Given the description of an element on the screen output the (x, y) to click on. 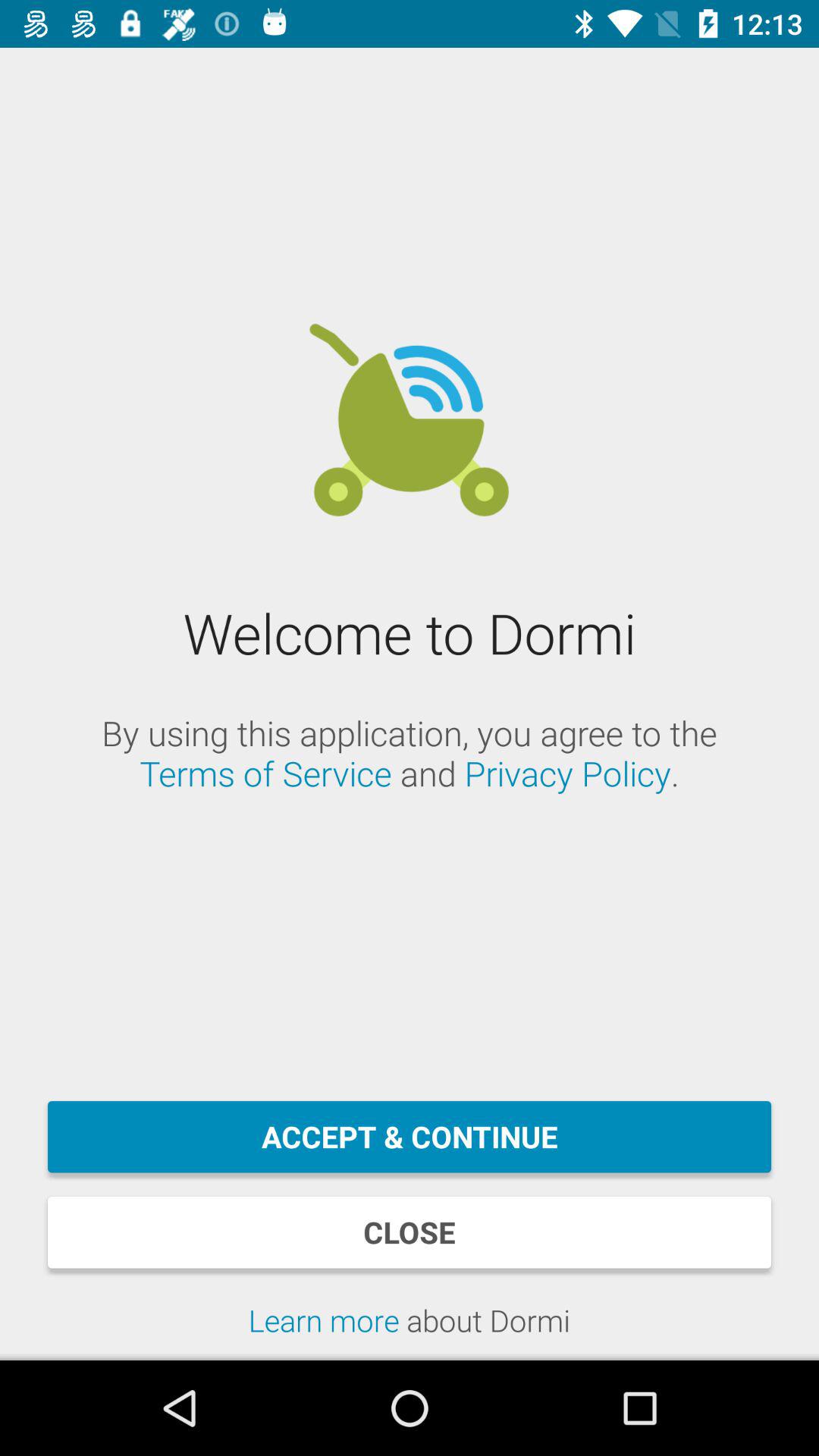
press the close (409, 1232)
